Given the description of an element on the screen output the (x, y) to click on. 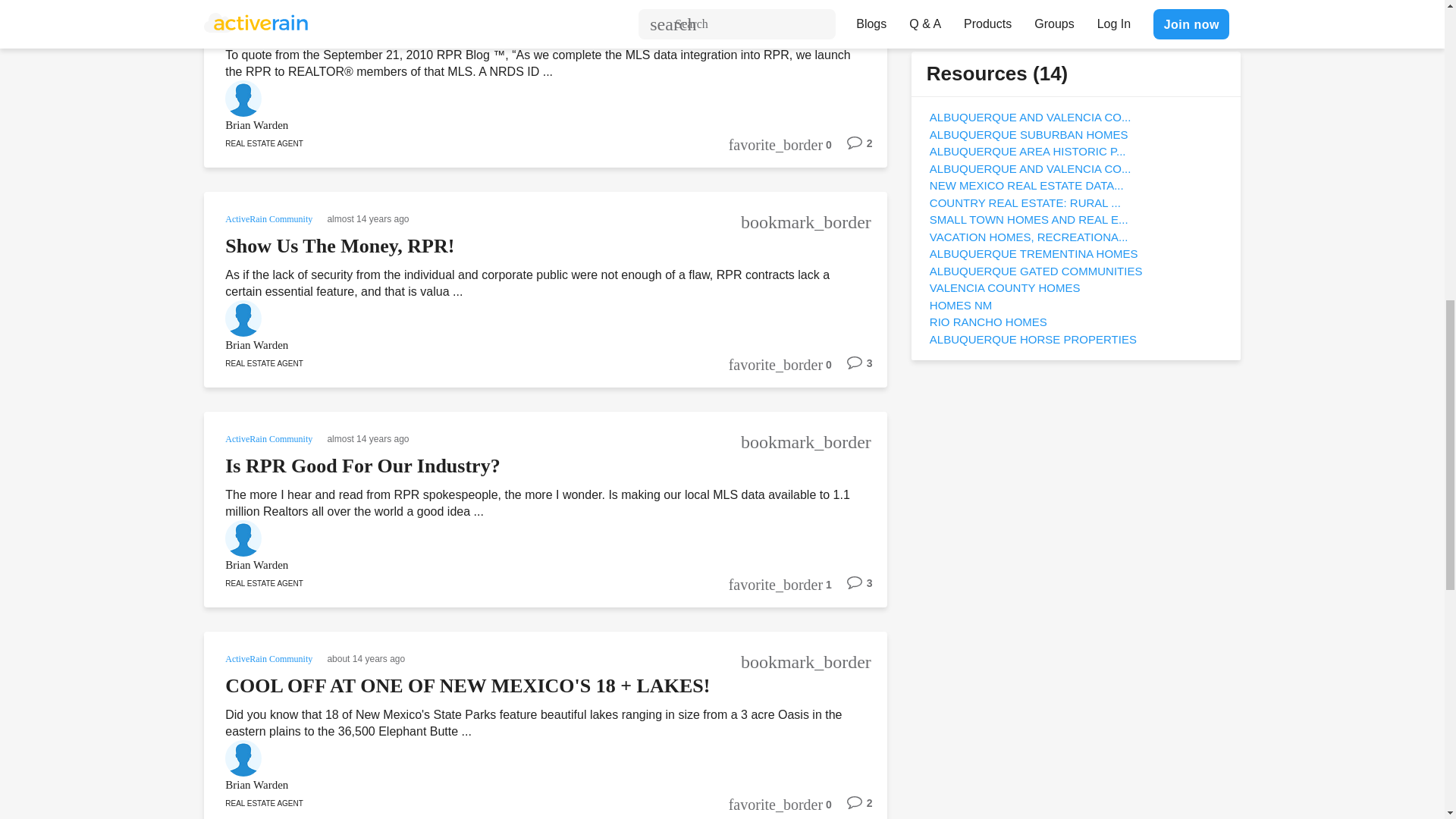
2 (851, 148)
Homes NM (961, 305)
Brian Warden (525, 344)
Albuquerque Horse Properties (1033, 338)
Valencia County Homes (1005, 287)
ActiveRain Community (270, 217)
Albuquerque Trementina Homes (1034, 253)
3 (851, 368)
RPR. FOR REALTORS ONLY? (361, 25)
